Given the description of an element on the screen output the (x, y) to click on. 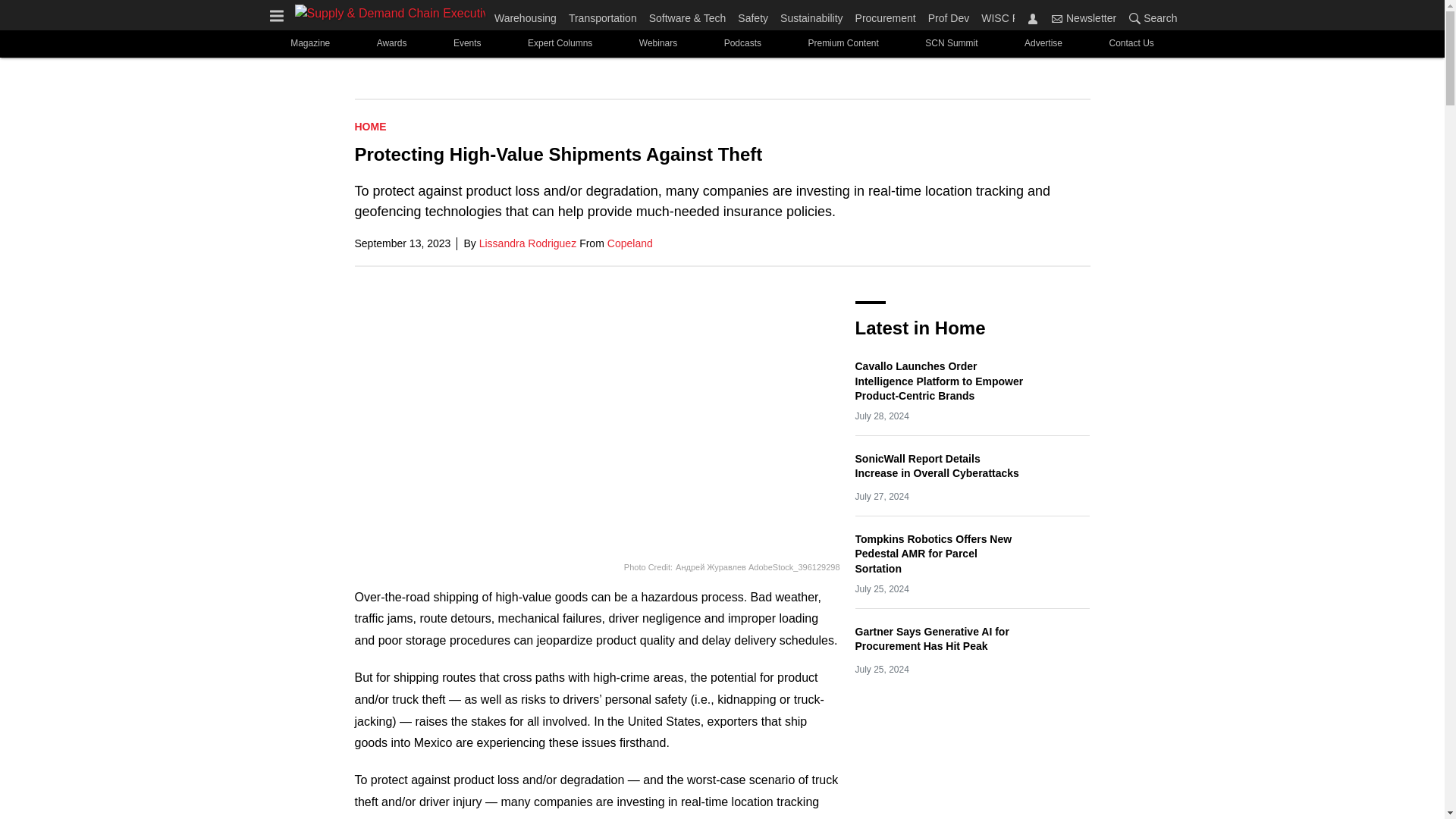
Premium Content (843, 43)
Transportation (602, 15)
Procurement (884, 15)
Sustainability (811, 15)
SCN Summit (951, 43)
WISC Forum (1008, 15)
Podcasts (742, 43)
Search (1134, 18)
Newsletter (1056, 18)
Events (466, 43)
Search (1149, 17)
Sign In (1032, 18)
Webinars (657, 43)
Newsletter (1083, 17)
Contact Us (1132, 43)
